Given the description of an element on the screen output the (x, y) to click on. 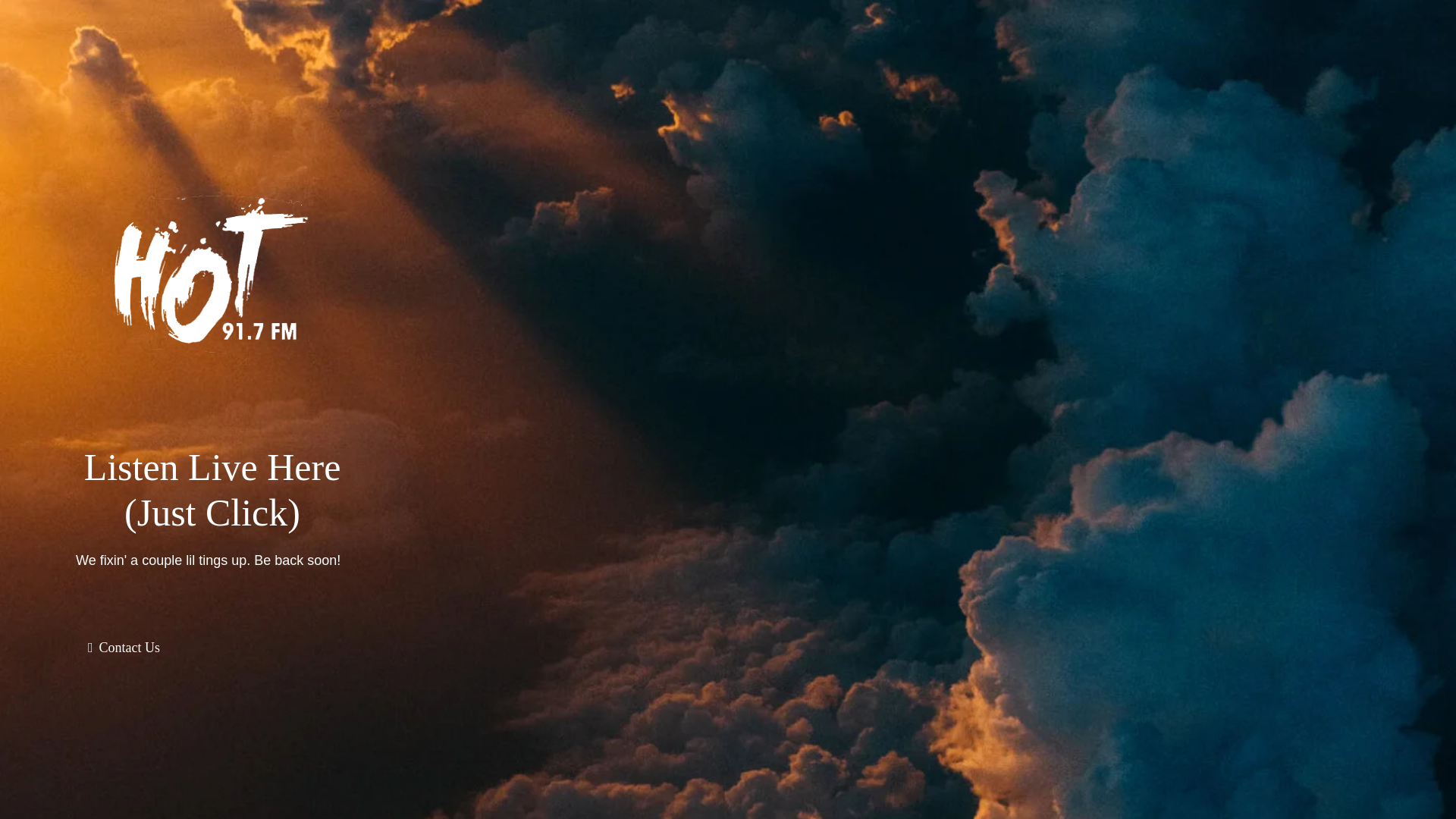
Contact Us (123, 647)
